Given the description of an element on the screen output the (x, y) to click on. 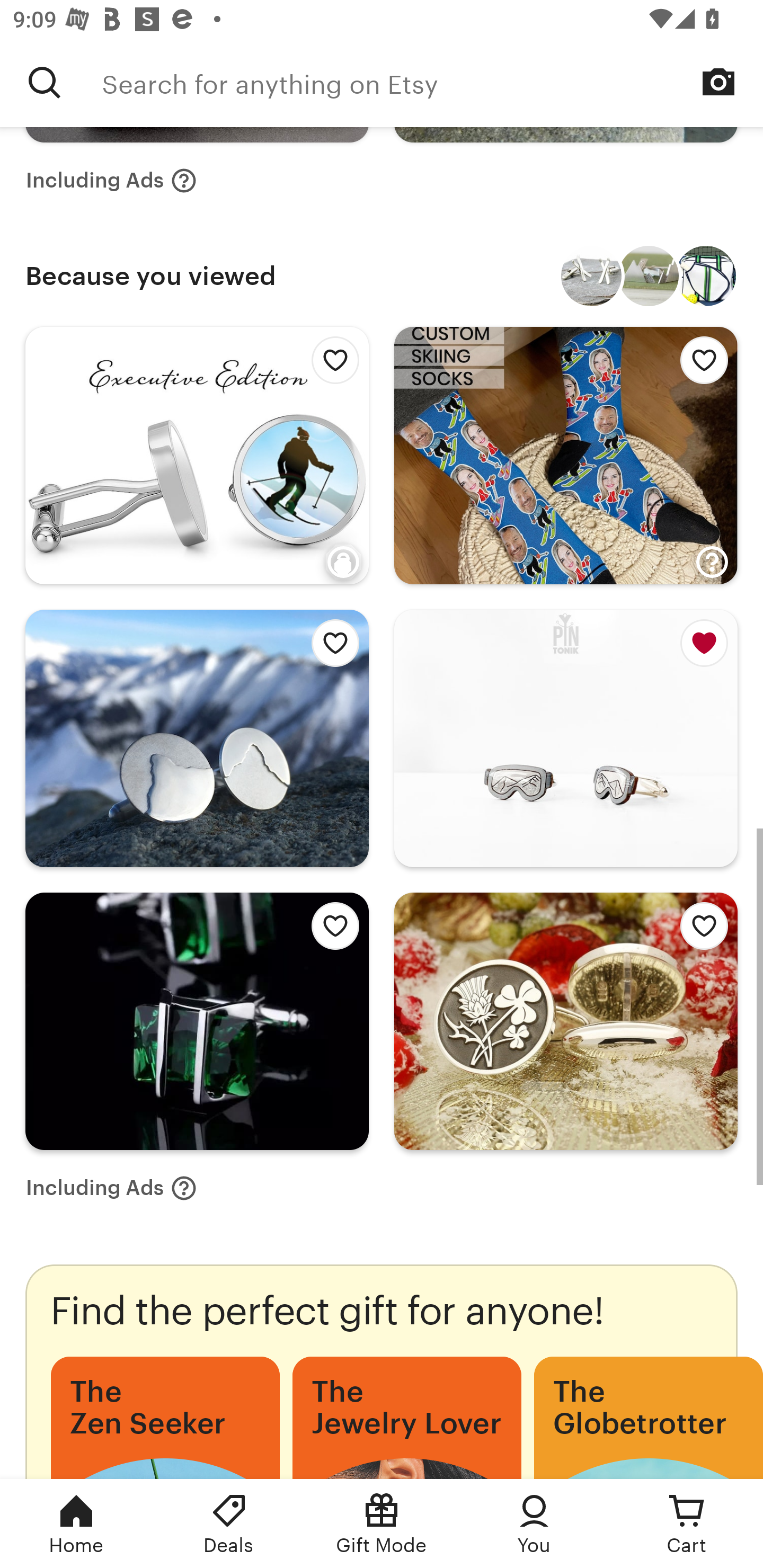
Search for anything on Etsy (44, 82)
Search by image (718, 81)
Search for anything on Etsy (432, 82)
Including Ads (111, 180)
Personalised Ski Skiing Silver Cufflinks (591, 275)
Including Ads (111, 1187)
Find the perfect gift for anyone! (381, 1370)
The Zen Seeker (165, 1417)
The Jewelry Lover (406, 1417)
The Globetrotter (648, 1417)
Deals (228, 1523)
Gift Mode (381, 1523)
You (533, 1523)
Cart (686, 1523)
